Given the description of an element on the screen output the (x, y) to click on. 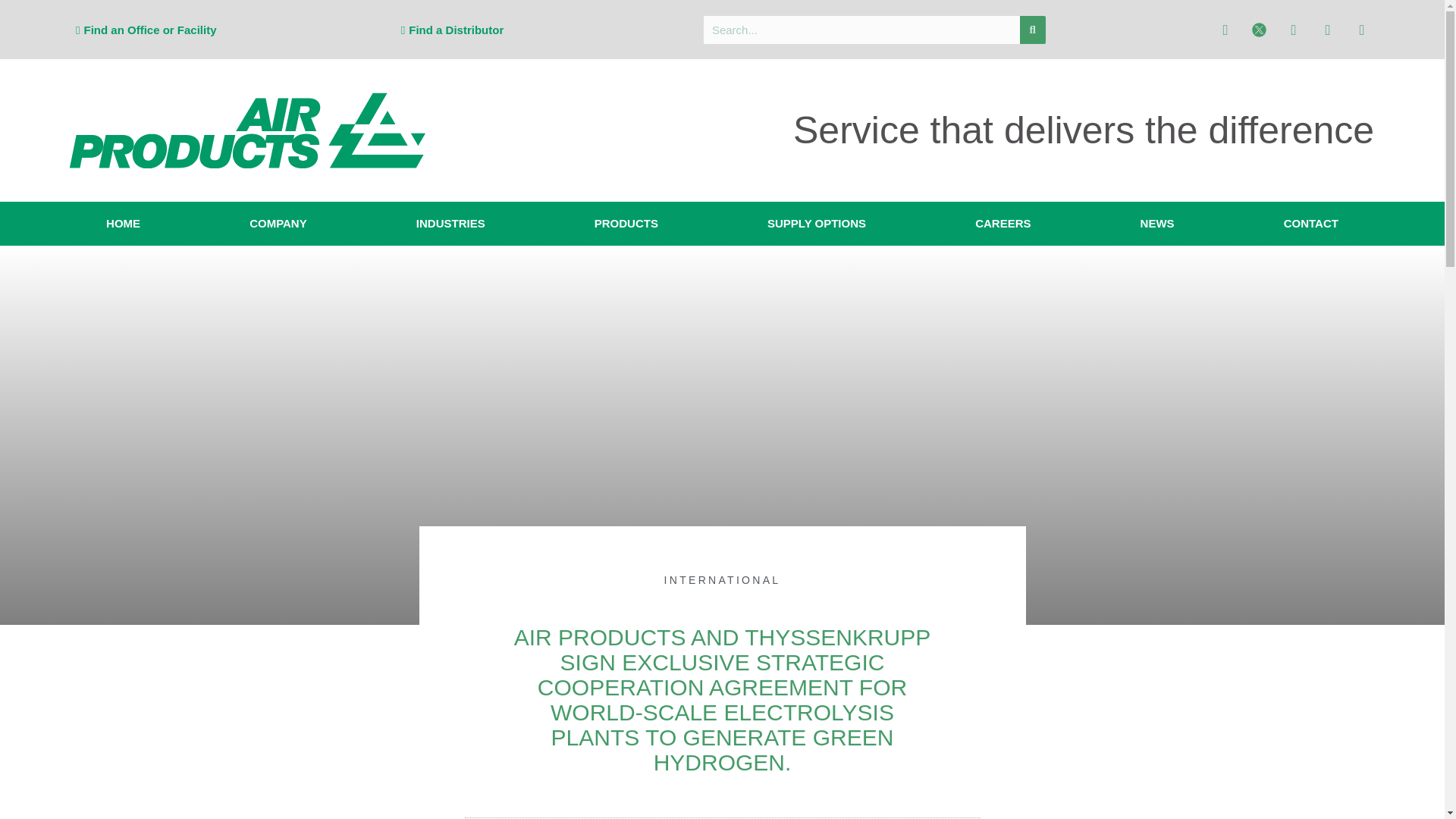
Find an Office or Facility (146, 30)
INDUSTRIES (451, 223)
COMPANY (277, 223)
Find a Distributor (451, 30)
HOME (123, 223)
